Given the description of an element on the screen output the (x, y) to click on. 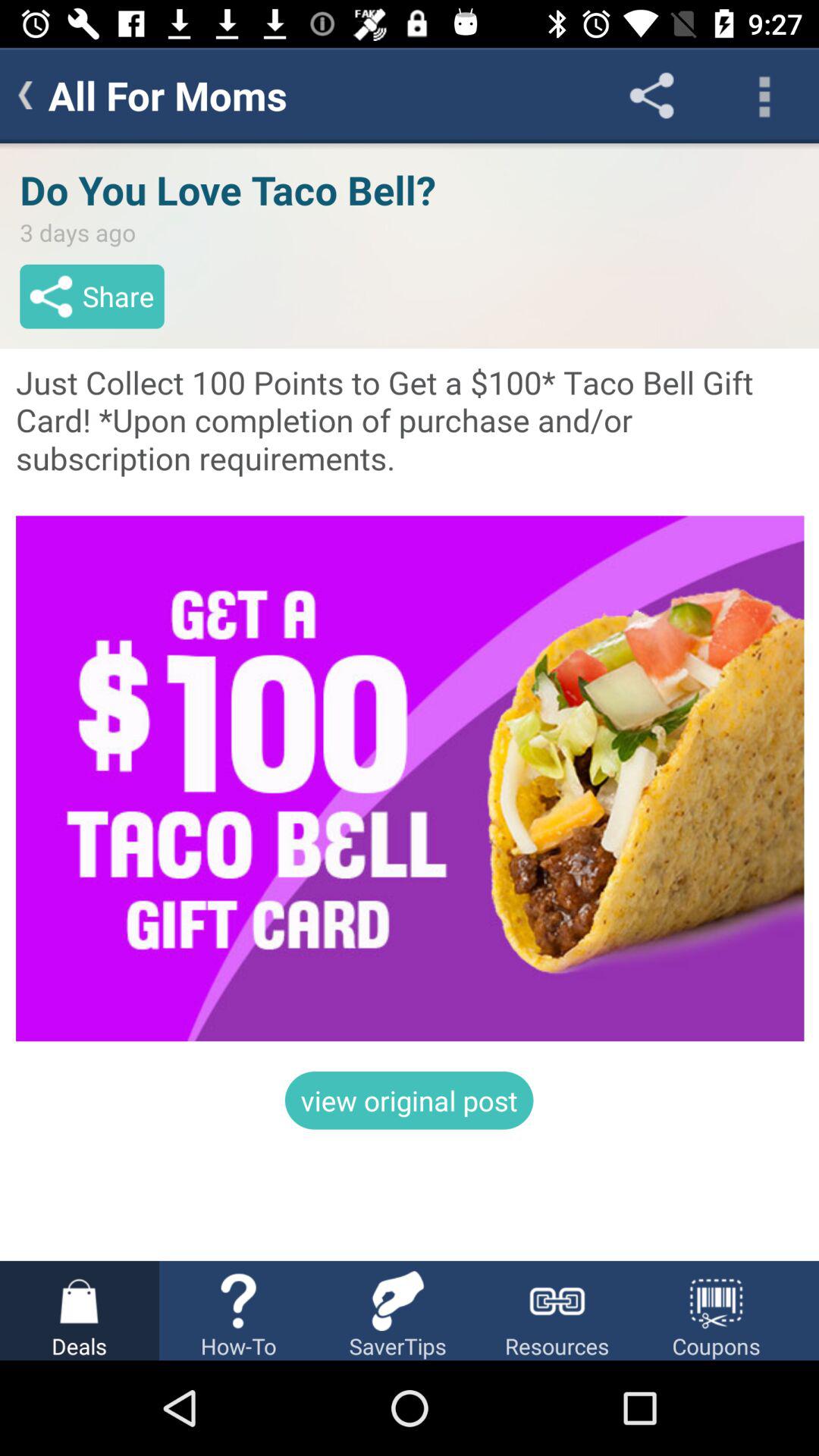
scroll to the view original post app (408, 1100)
